Given the description of an element on the screen output the (x, y) to click on. 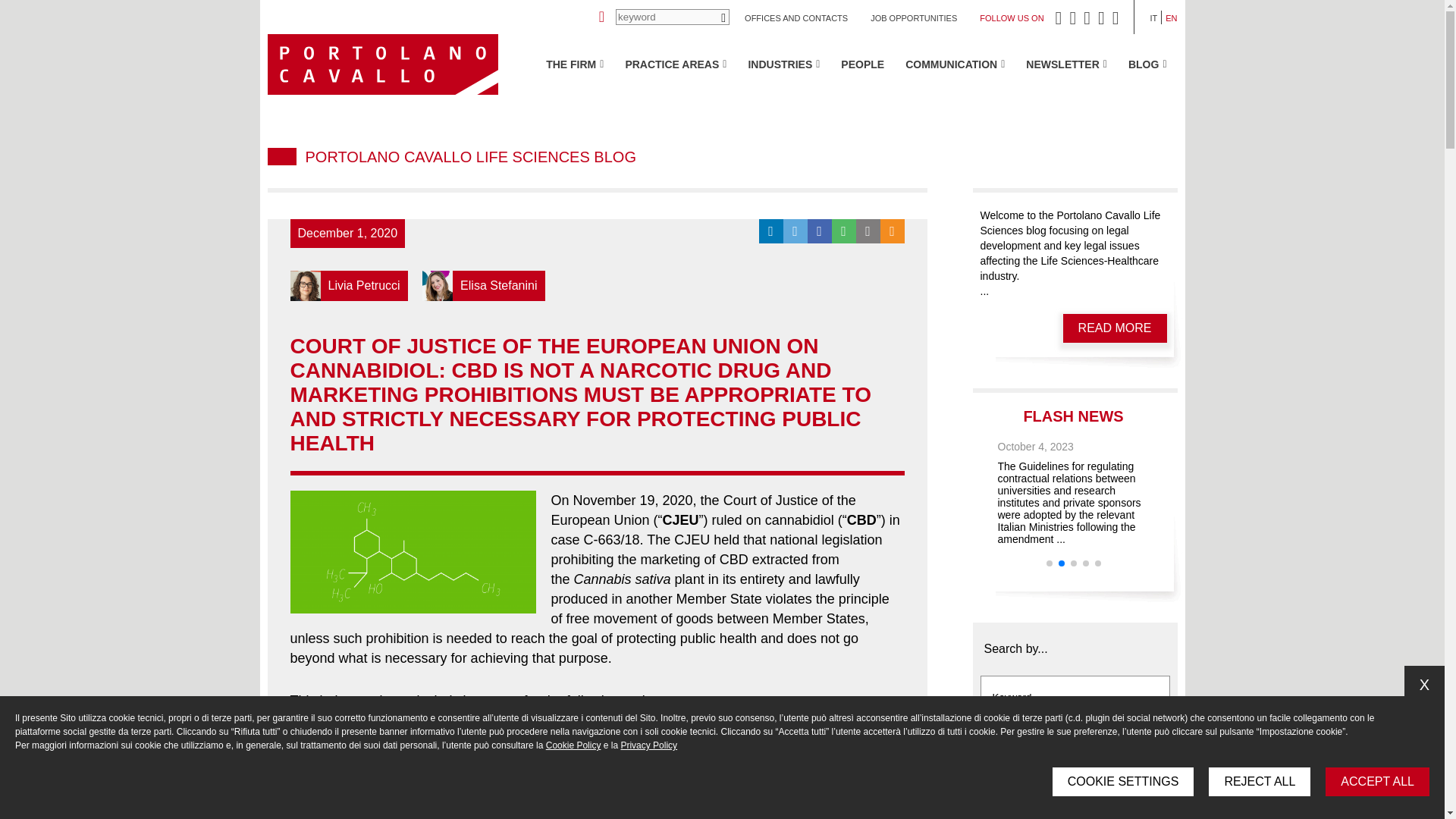
English (1171, 17)
The Firm (574, 64)
Portolano Cavallo (381, 64)
PRACTICE AREAS (675, 64)
THE FIRM (574, 64)
Offices and Contacts (795, 17)
EN (1171, 17)
OFFICES AND CONTACTS (795, 17)
JOB OPPORTUNITIES (913, 17)
Job opportunities (913, 17)
